Given the description of an element on the screen output the (x, y) to click on. 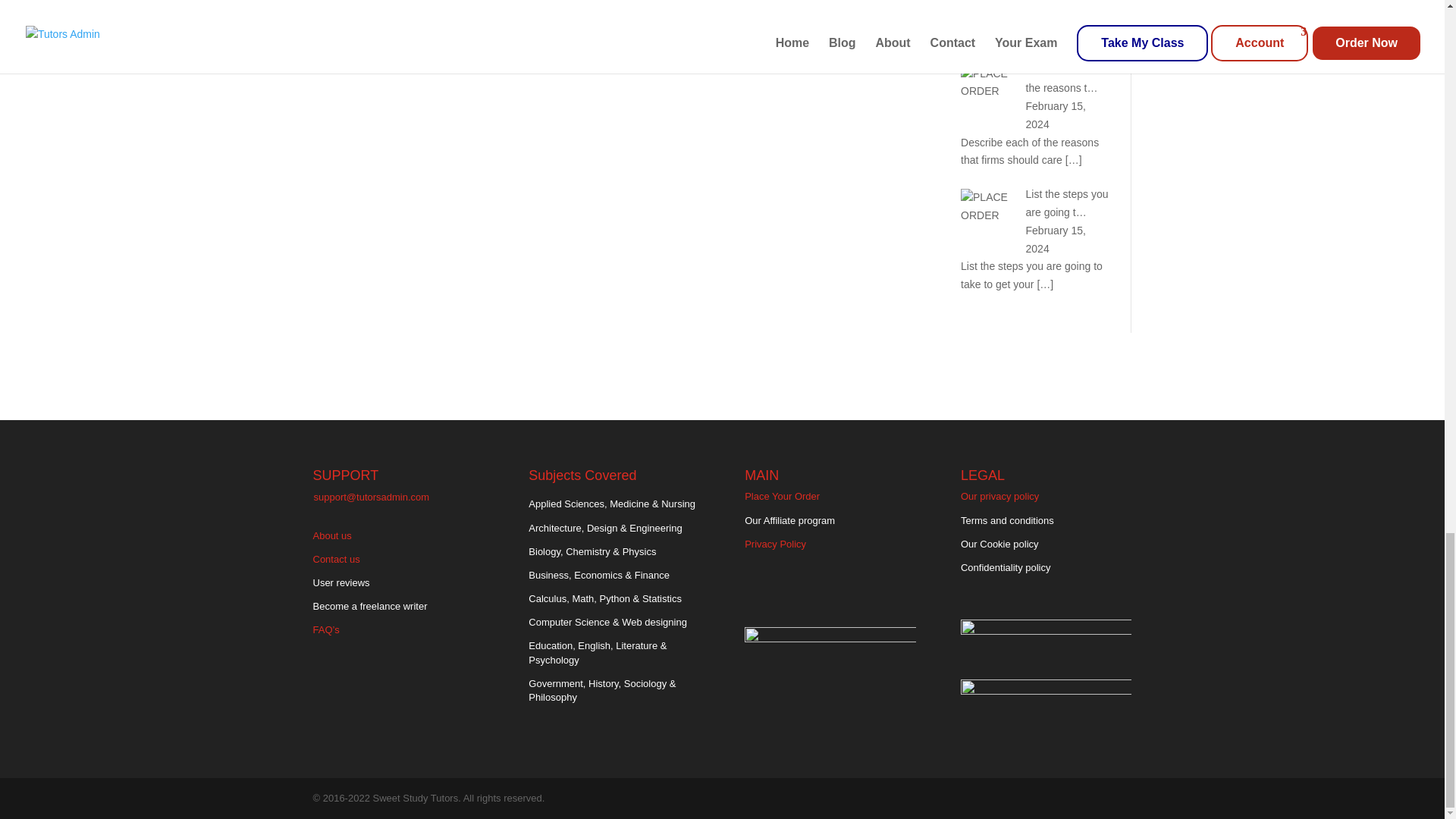
Place Your Order (781, 496)
About us (331, 535)
Contact us (336, 559)
Privacy Policy (775, 543)
Our privacy policy (999, 496)
